Given the description of an element on the screen output the (x, y) to click on. 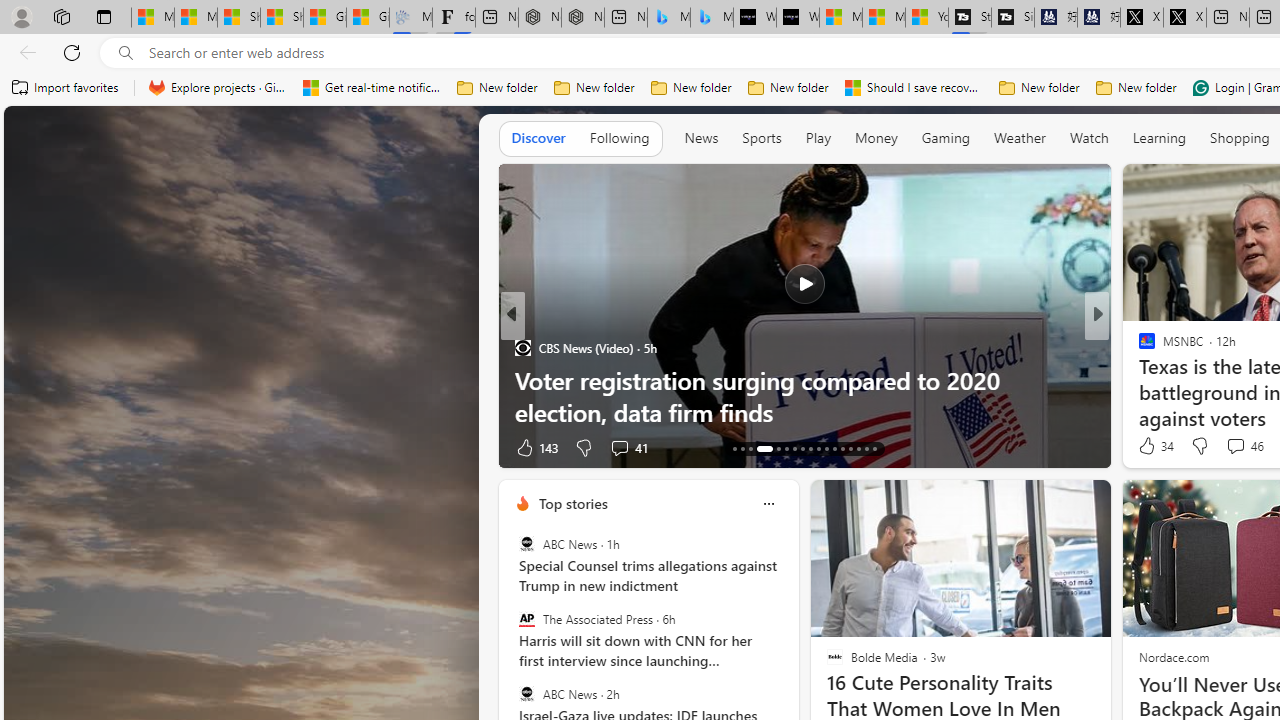
63 Like (1149, 447)
BRAINY DOSE (1138, 380)
View comments 46 Comment (1244, 446)
AutomationID: tab-18 (786, 448)
ETNT Mind+Body (1138, 347)
Thrift My Life (1138, 347)
View comments 15 Comment (1237, 447)
The Best Rowing Workout for Weight Loss (804, 411)
